Given the description of an element on the screen output the (x, y) to click on. 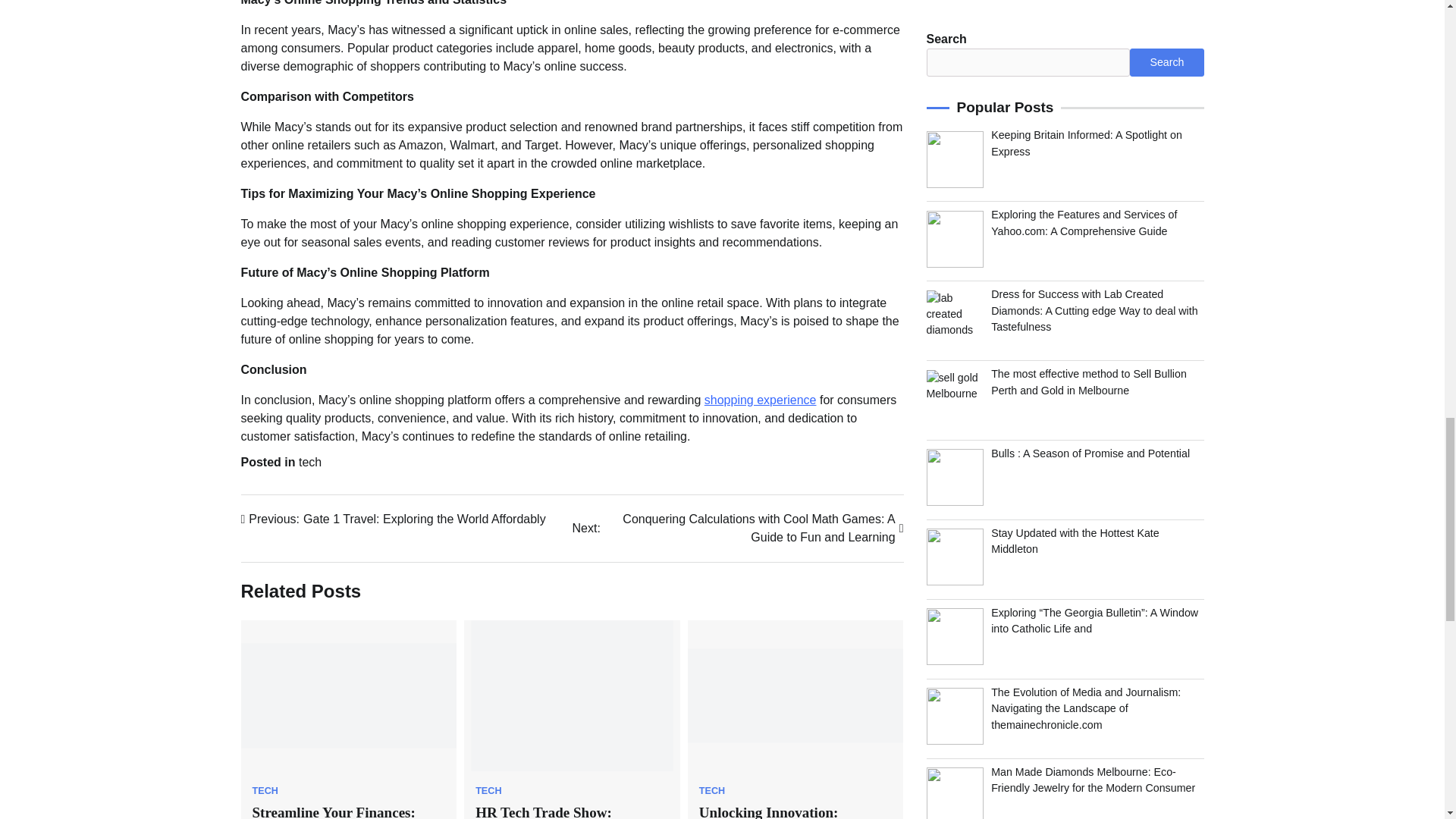
TECH (488, 791)
tech (309, 461)
TECH (264, 791)
shopping experience (760, 399)
TECH (711, 791)
Unlocking Innovation: Exploring the World of Hi Tech Soft (393, 519)
